Given the description of an element on the screen output the (x, y) to click on. 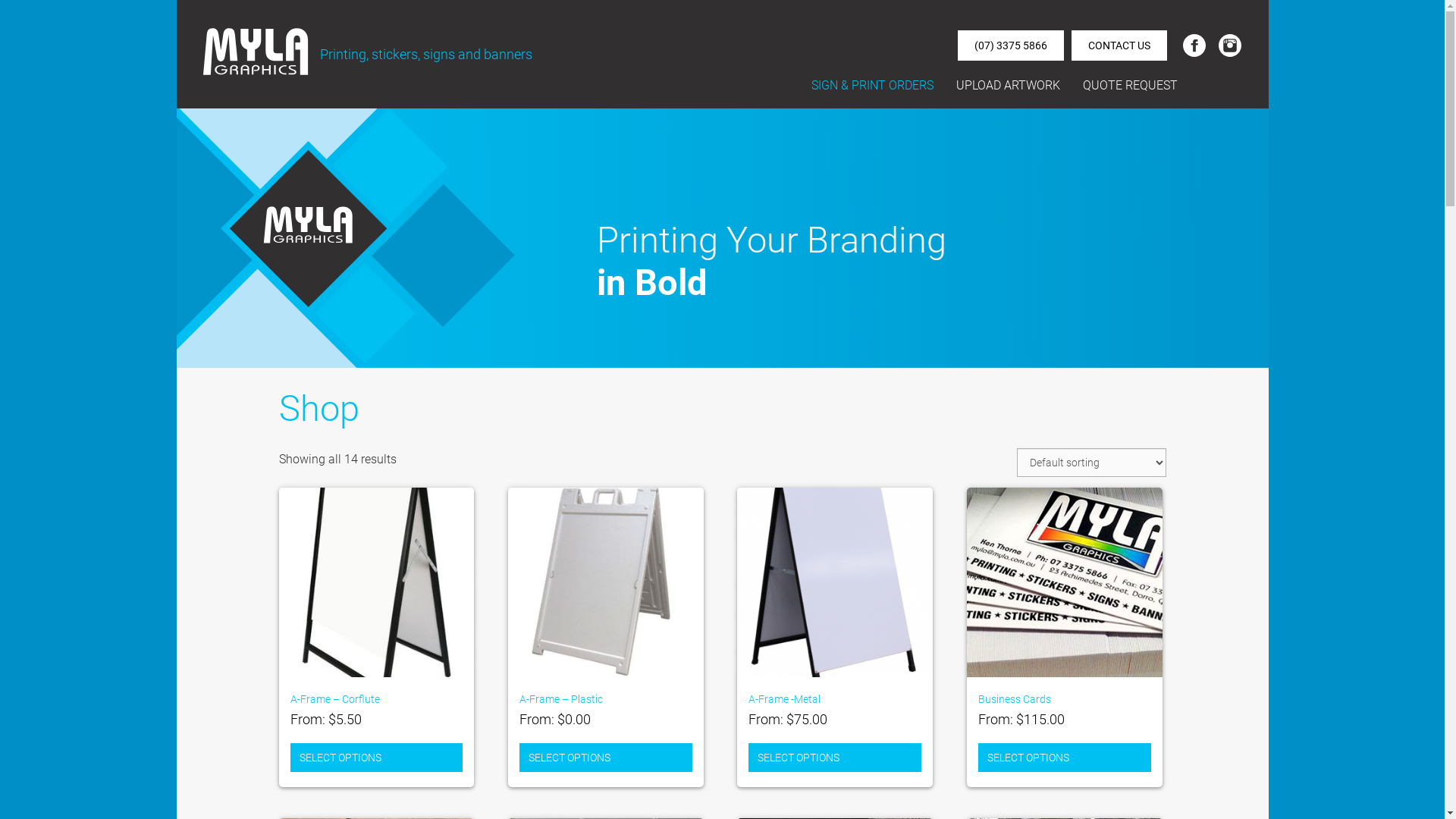
Business Cards
From: $115.00 Element type: text (1064, 614)
SELECT OPTIONS Element type: text (1064, 757)
INSTAGRAM Element type: text (1229, 45)
SELECT OPTIONS Element type: text (605, 757)
(07) 3375 5866 Element type: text (1010, 45)
QUOTE REQUEST Element type: text (1129, 91)
A-Frame -Metal
From: $75.00 Element type: text (834, 614)
SIGN & PRINT ORDERS Element type: text (872, 91)
Myla Graphics Element type: text (255, 51)
SELECT OPTIONS Element type: text (375, 757)
UPLOAD ARTWORK Element type: text (1007, 91)
CONTACT US Element type: text (1118, 45)
SELECT OPTIONS Element type: text (834, 757)
FACEBOOK Element type: text (1193, 45)
